Given the description of an element on the screen output the (x, y) to click on. 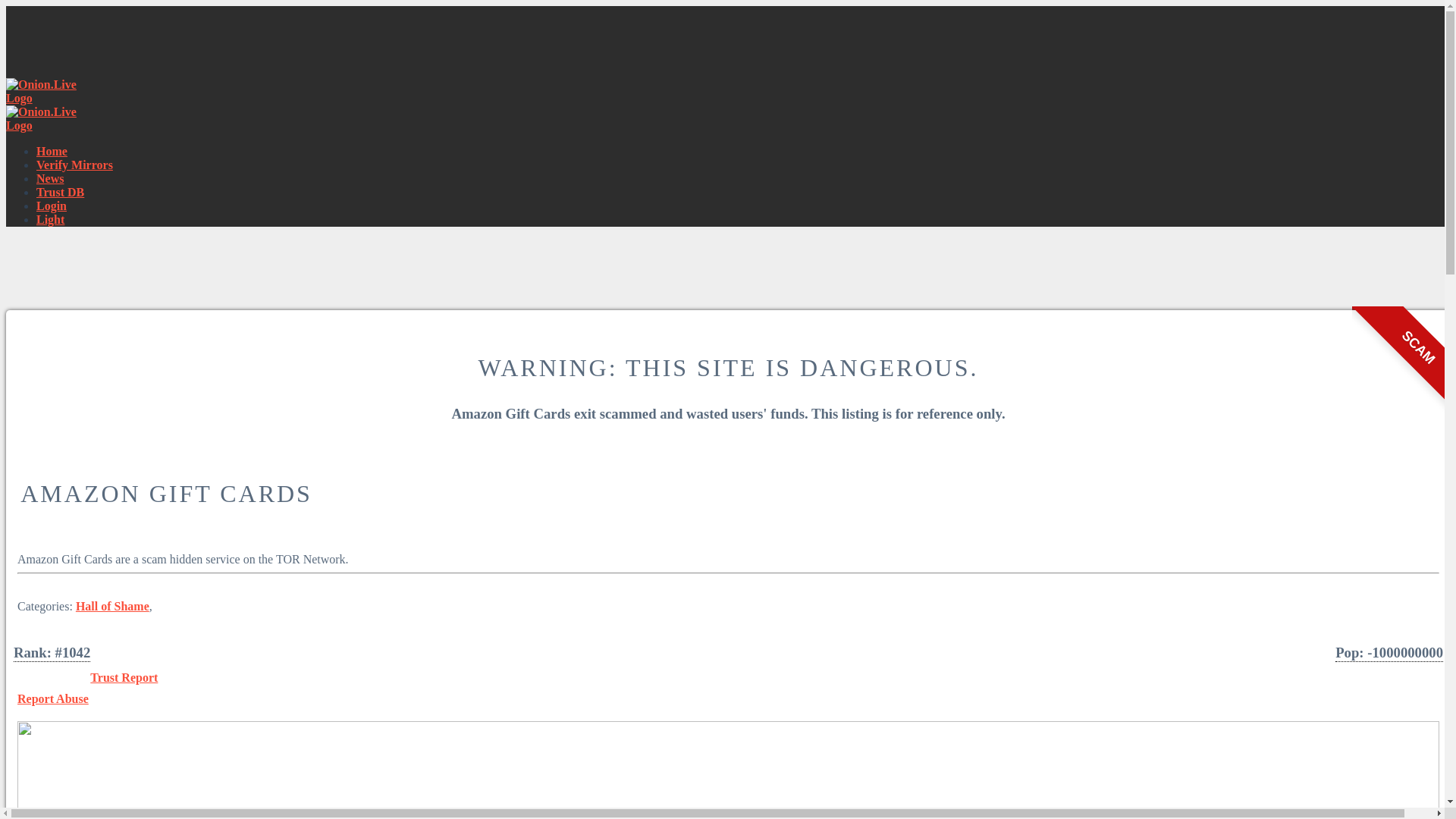
Trust DB (60, 192)
Hall of Shame (112, 605)
Home (51, 151)
Login (51, 205)
Verify Mirrors (74, 164)
Report Abuse (52, 698)
News (50, 178)
Light (50, 219)
Trust Report (123, 676)
